Given the description of an element on the screen output the (x, y) to click on. 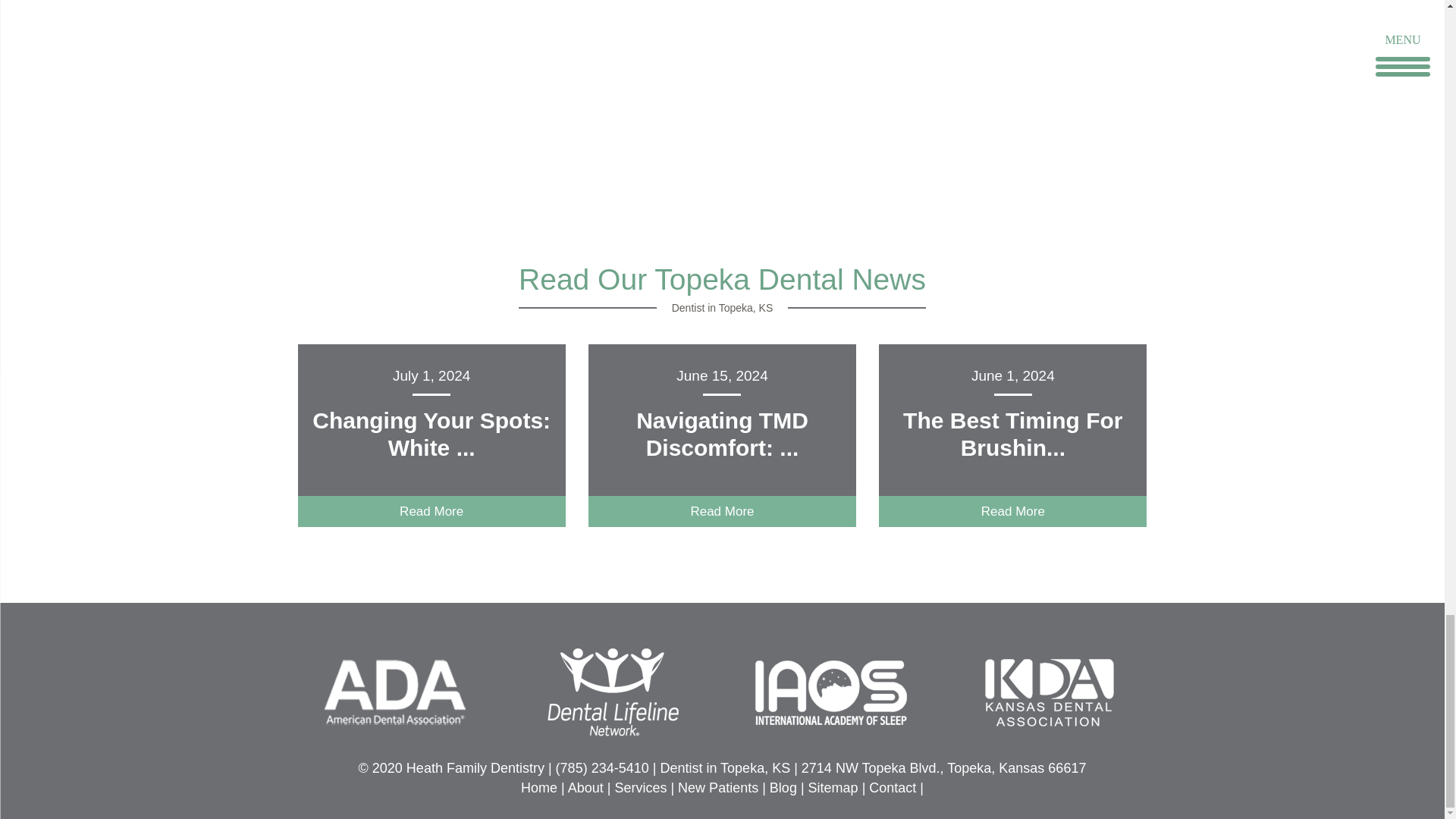
Services (640, 787)
The Best Timing For Brushin... (1012, 433)
Read More (1013, 511)
Read More (722, 511)
Blog (783, 787)
Changing Your Spots: White ... (431, 433)
About (585, 787)
Read More (430, 511)
Home (539, 787)
Navigating TMD Discomfort: ... (722, 433)
New Patients (718, 787)
